Given the description of an element on the screen output the (x, y) to click on. 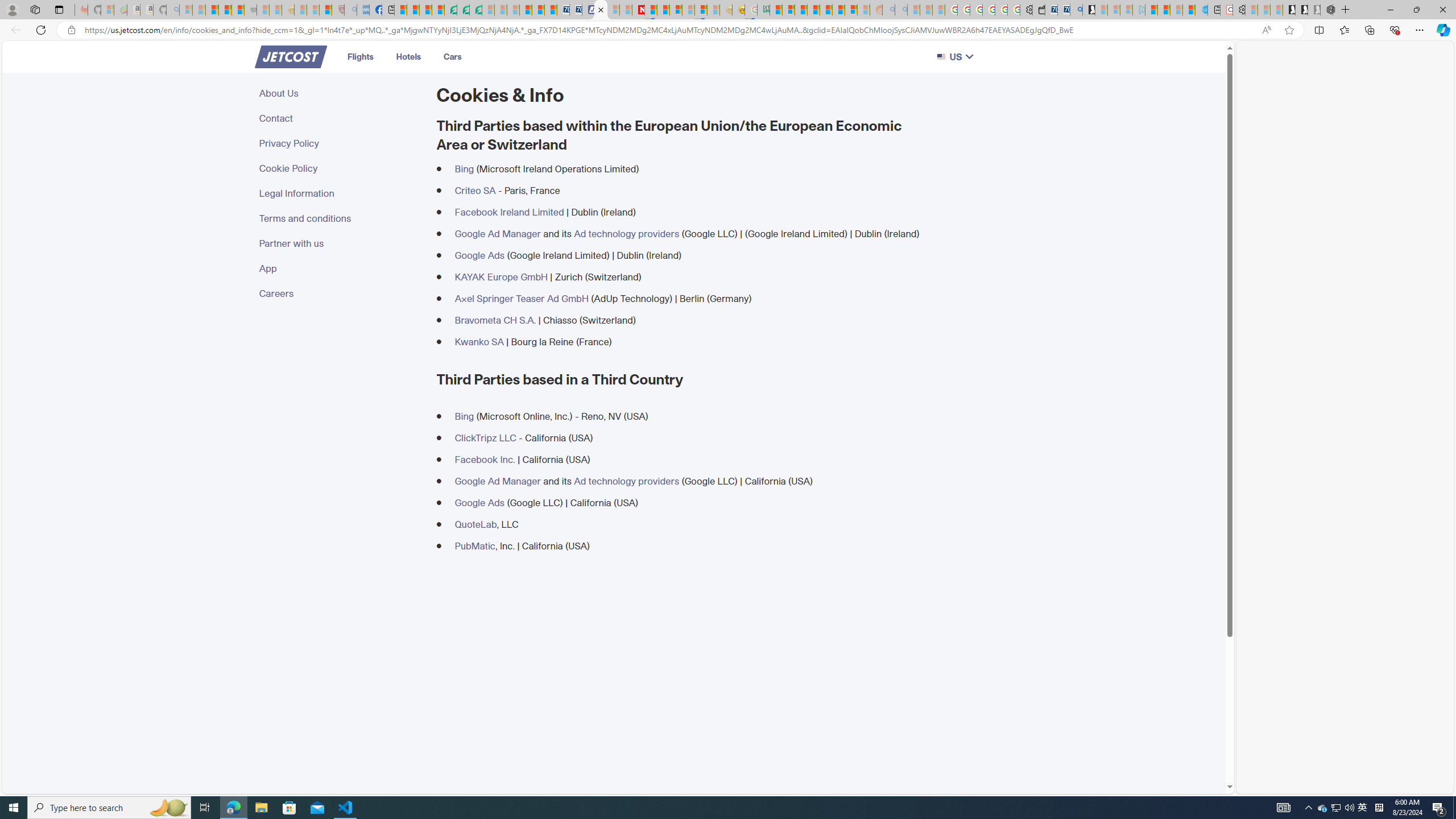
About Us (341, 92)
Terms and conditions (341, 218)
Terms and conditions (341, 218)
Class: no-underline cursor-pointer (290, 56)
Google Ads (478, 502)
